Given the description of an element on the screen output the (x, y) to click on. 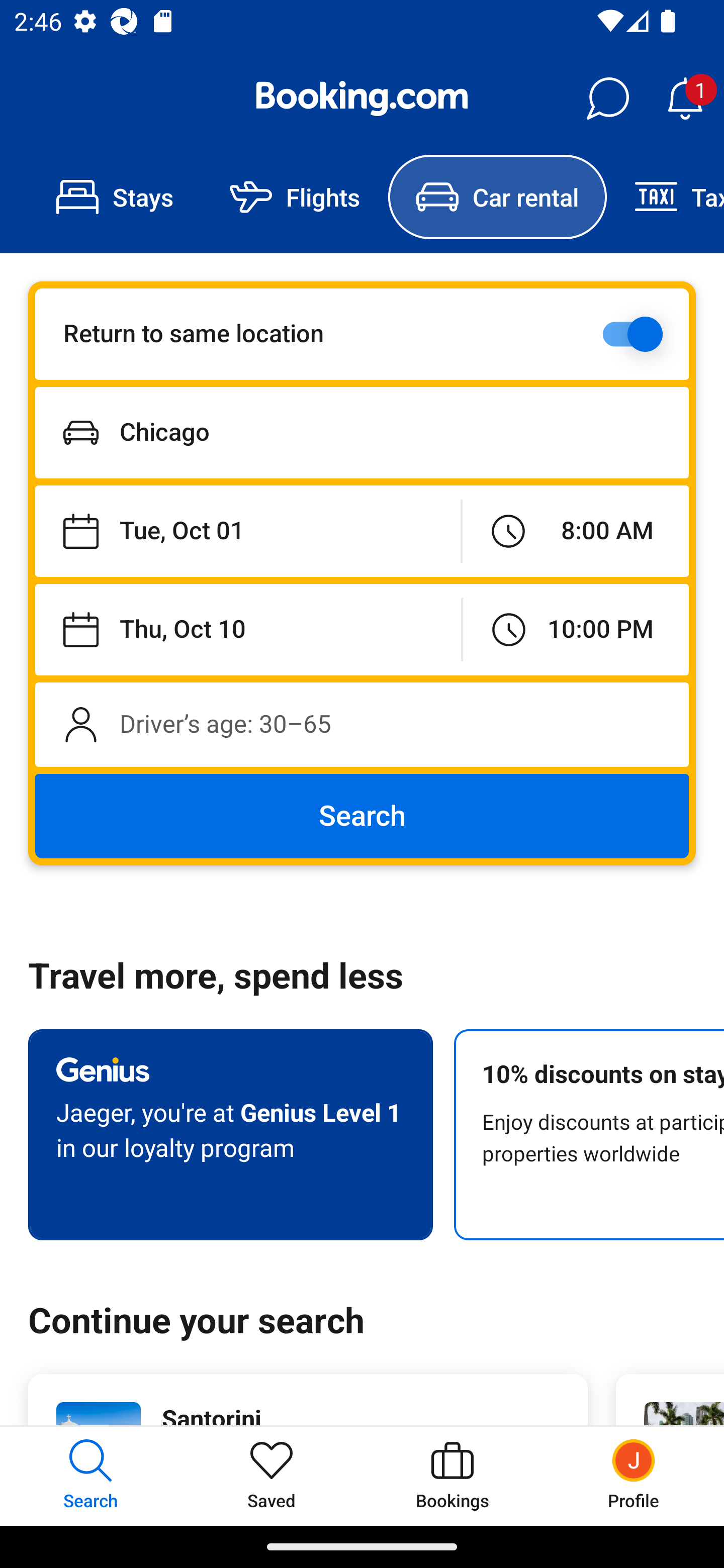
Messages (607, 98)
Notifications (685, 98)
Stays (114, 197)
Flights (294, 197)
Car rental (497, 197)
Taxi (665, 197)
Pick-up location: Text(name=Chicago) (361, 432)
Pick-up date: 2024-10-01 (247, 531)
Pick-up time: 08:00:00.000 (575, 531)
Drop-off date: 2024-10-10 (248, 629)
Drop-off time: 22:00:00.000 (575, 629)
Enter the driver's age (361, 724)
Search (361, 815)
Saved (271, 1475)
Bookings (452, 1475)
Profile (633, 1475)
